Given the description of an element on the screen output the (x, y) to click on. 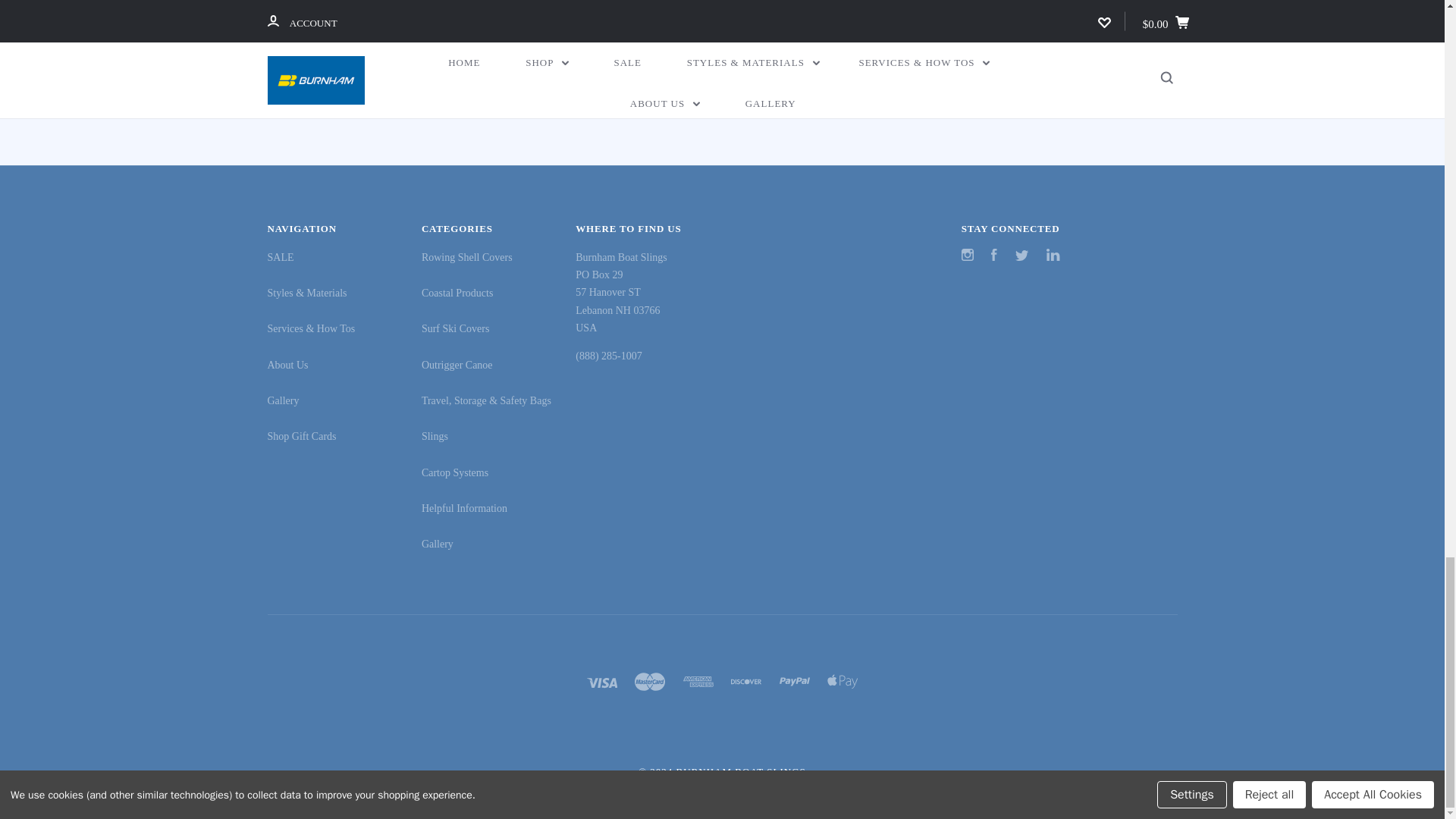
Facebook (994, 256)
Twitter (1021, 256)
LinkedIn (1052, 256)
printer (714, 37)
instagram (967, 254)
facebook (994, 254)
twitter (738, 37)
Instagram (967, 256)
email (689, 37)
twitter (1021, 255)
linkedin (1052, 254)
facebook (669, 37)
linkedin (763, 37)
